Given the description of an element on the screen output the (x, y) to click on. 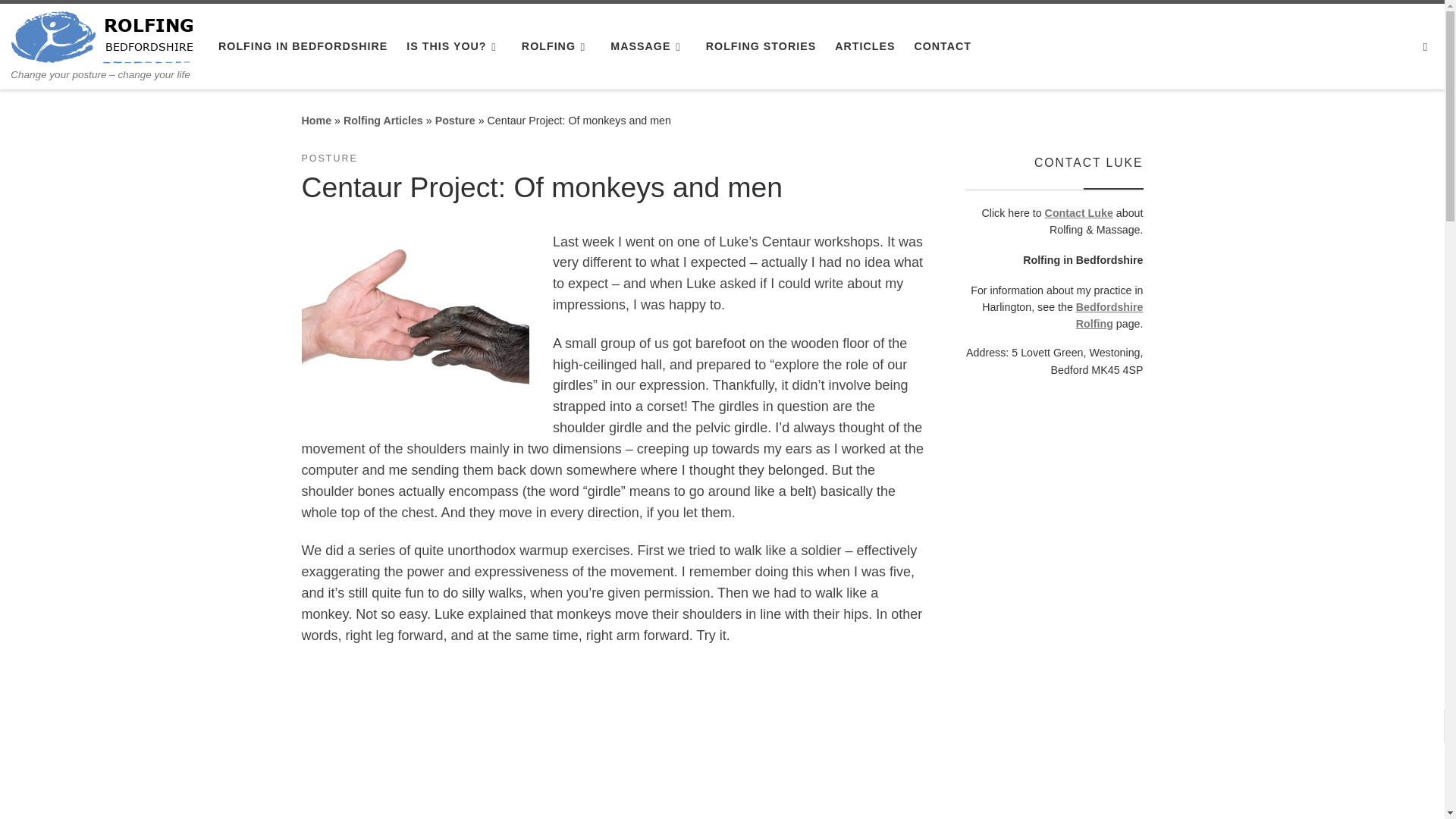
About Rolfing (556, 46)
MASSAGE (648, 46)
ROLFING IN BEDFORDSHIRE (303, 46)
CONTACT (941, 46)
Skip to content (60, 20)
ROLFING (556, 46)
Rolfing experiences and stories (761, 46)
Is this you? (453, 46)
ROLFING STORIES (761, 46)
IS THIS YOU? (453, 46)
